Given the description of an element on the screen output the (x, y) to click on. 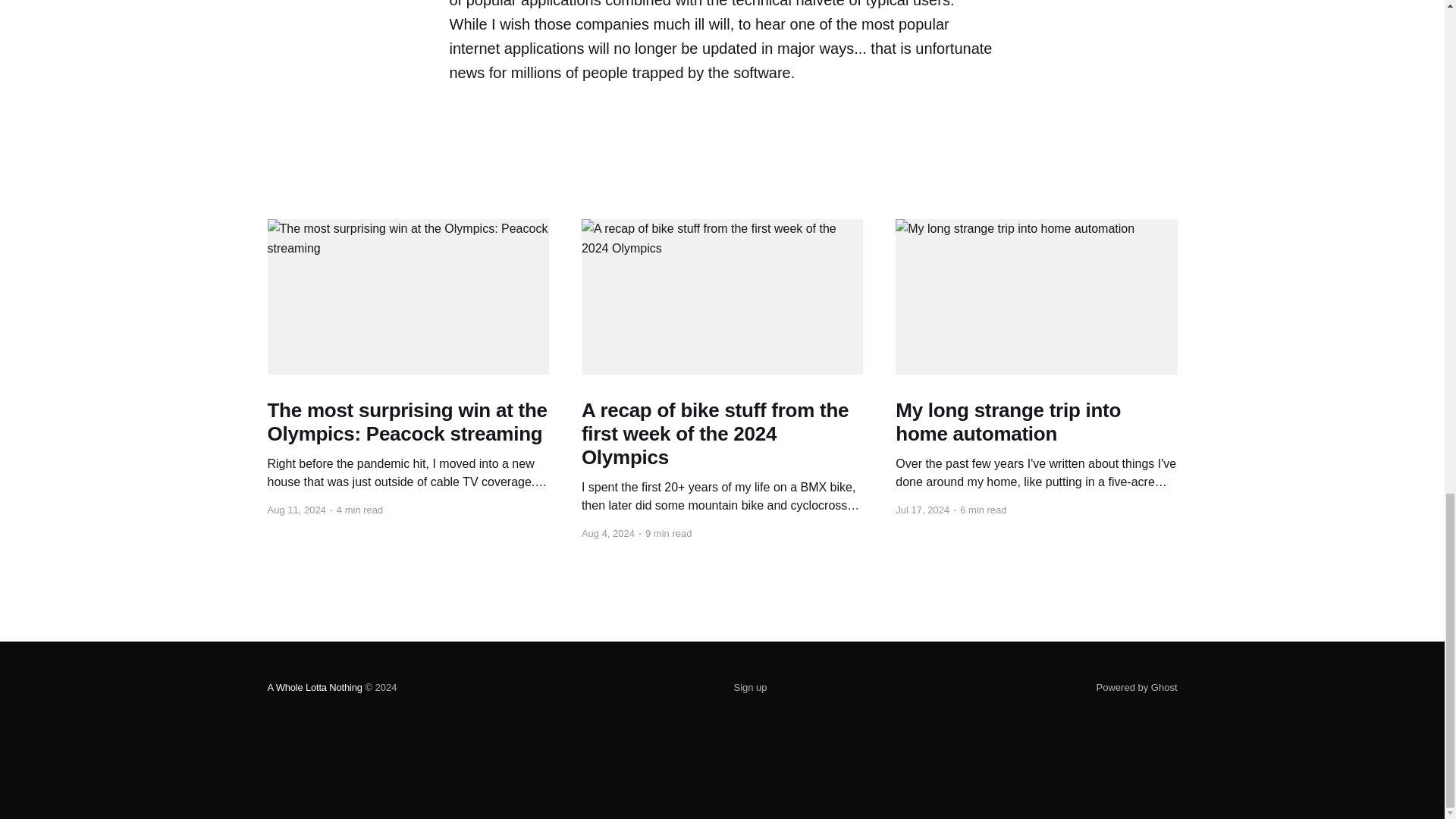
Sign up (750, 687)
A Whole Lotta Nothing (313, 686)
Powered by Ghost (1136, 686)
